Given the description of an element on the screen output the (x, y) to click on. 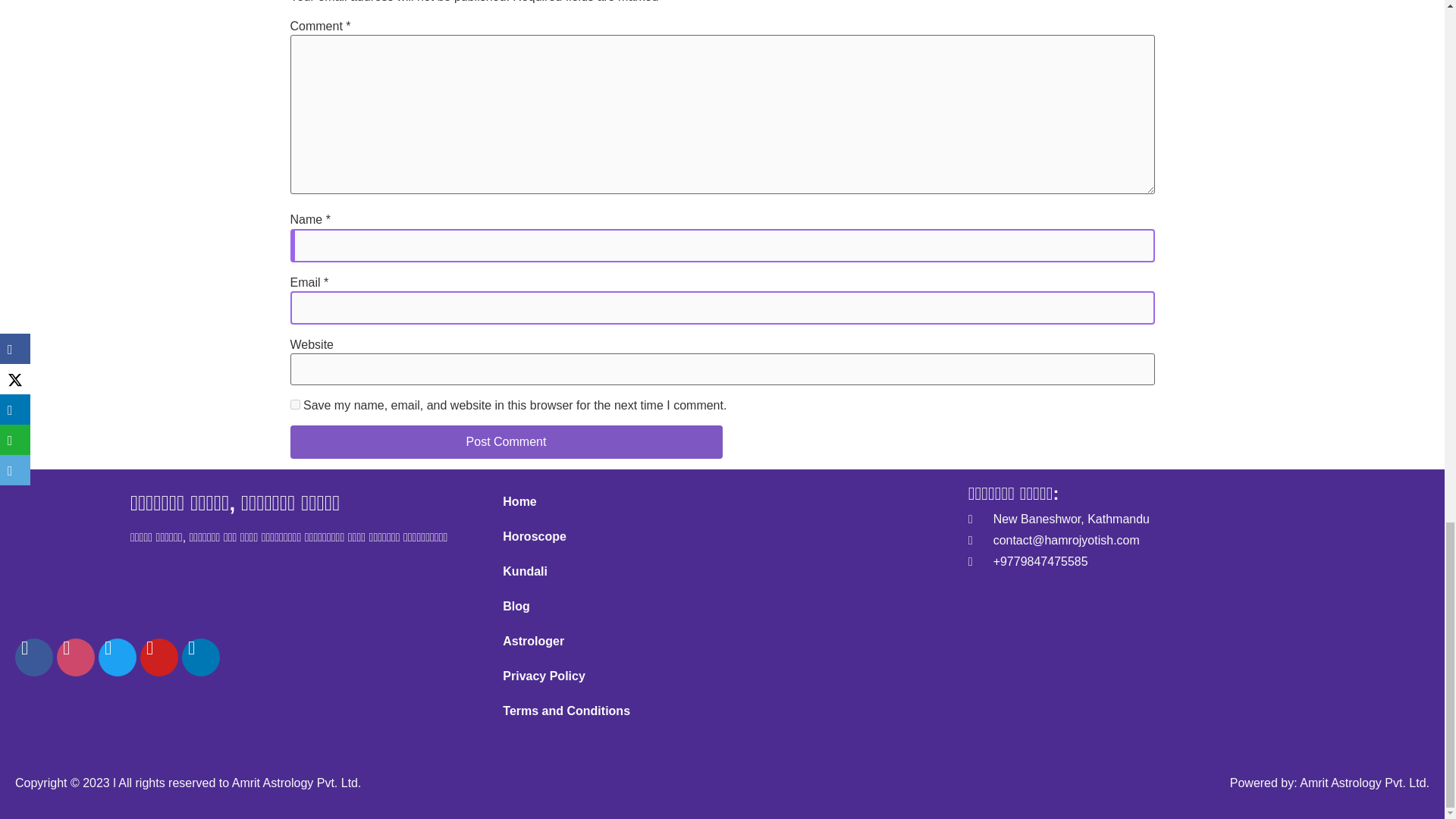
Post Comment (505, 441)
Horoscope (722, 536)
Kundali (722, 571)
Privacy Policy (722, 676)
Post Comment (505, 441)
Blog (722, 606)
Home (722, 501)
yes (294, 404)
Astrologer (722, 641)
